Given the description of an element on the screen output the (x, y) to click on. 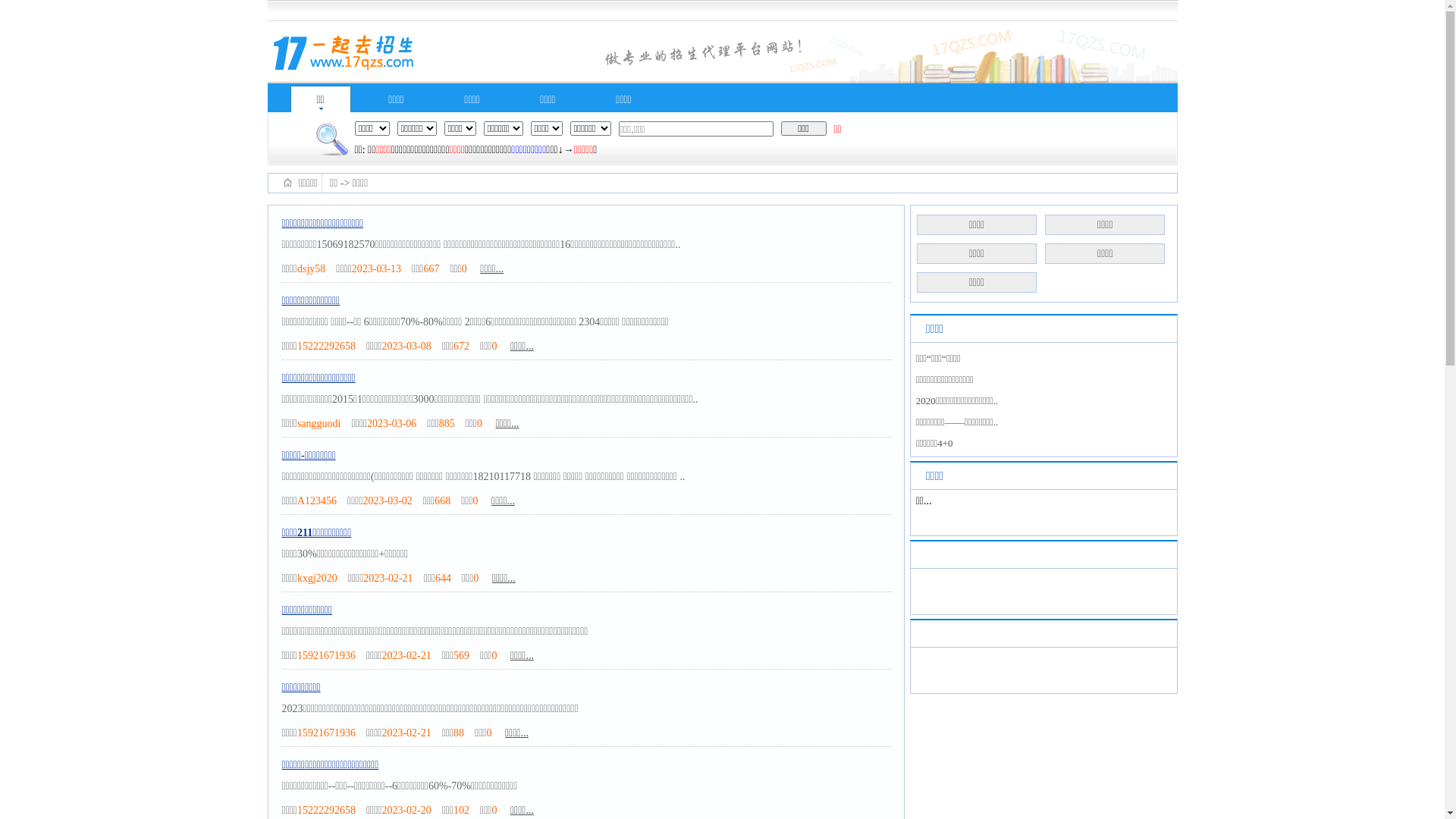
644 Element type: text (443, 577)
15222292658 Element type: text (326, 345)
88 Element type: text (458, 732)
2023-02-20 Element type: text (405, 809)
15921671936 Element type: text (326, 655)
0 Element type: text (475, 500)
569 Element type: text (461, 655)
dsjy58 Element type: text (311, 268)
A123456 Element type: text (316, 500)
kxgj2020 Element type: text (317, 577)
2023-03-08 Element type: text (405, 345)
0 Element type: text (464, 268)
0 Element type: text (479, 423)
885 Element type: text (447, 423)
2023-02-21 Element type: text (405, 655)
2023-03-13 Element type: text (376, 268)
0 Element type: text (493, 809)
2023-03-02 Element type: text (387, 500)
2023-03-06 Element type: text (391, 423)
15222292658 Element type: text (326, 809)
0 Element type: text (493, 345)
102 Element type: text (461, 809)
668 Element type: text (442, 500)
2023-02-21 Element type: text (387, 577)
667 Element type: text (431, 268)
0 Element type: text (488, 732)
sangguodi Element type: text (319, 423)
0 Element type: text (493, 655)
0 Element type: text (475, 577)
2023-02-21 Element type: text (405, 732)
672 Element type: text (461, 345)
15921671936 Element type: text (326, 732)
